Given the description of an element on the screen output the (x, y) to click on. 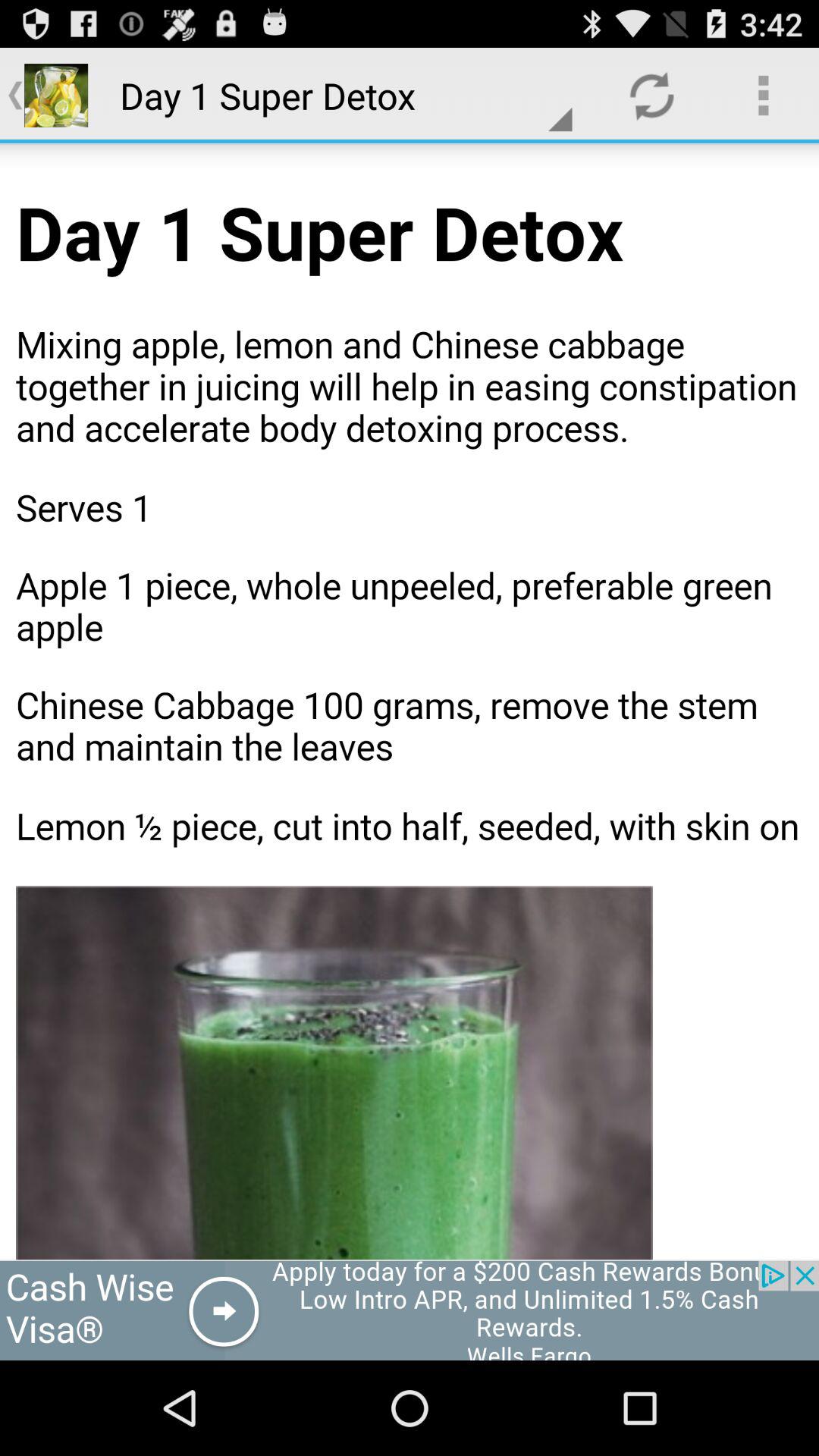
open visa advertisement website (409, 1310)
